Given the description of an element on the screen output the (x, y) to click on. 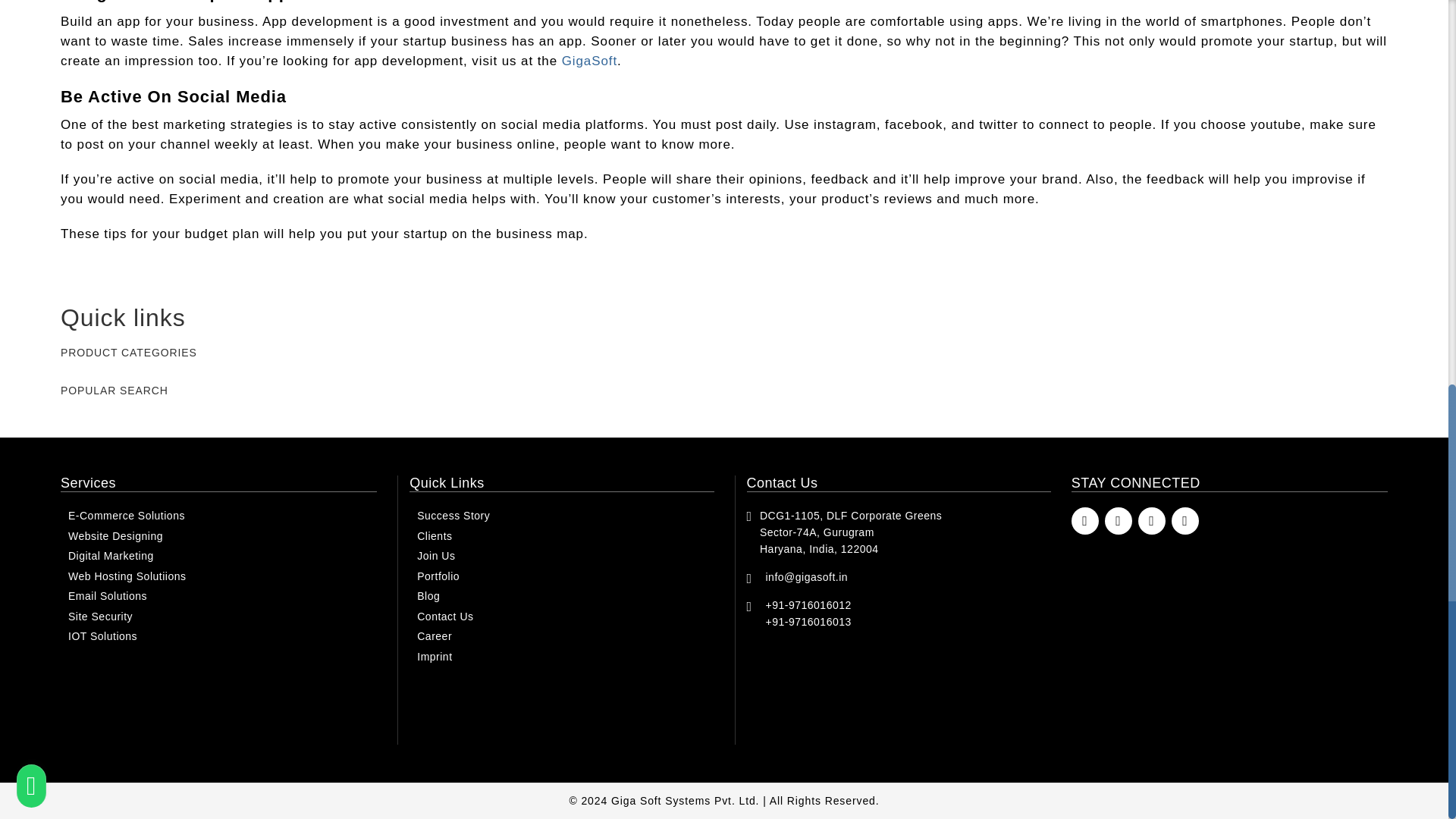
Email Solutions (219, 596)
Website Designing (219, 535)
Site Security (219, 616)
Web Hosting Solutiions (219, 576)
Digital Marketing (219, 555)
GigaSoft (589, 60)
IOT Solutions (219, 636)
Success Story (561, 515)
E-Commerce Solutions (219, 515)
